Given the description of an element on the screen output the (x, y) to click on. 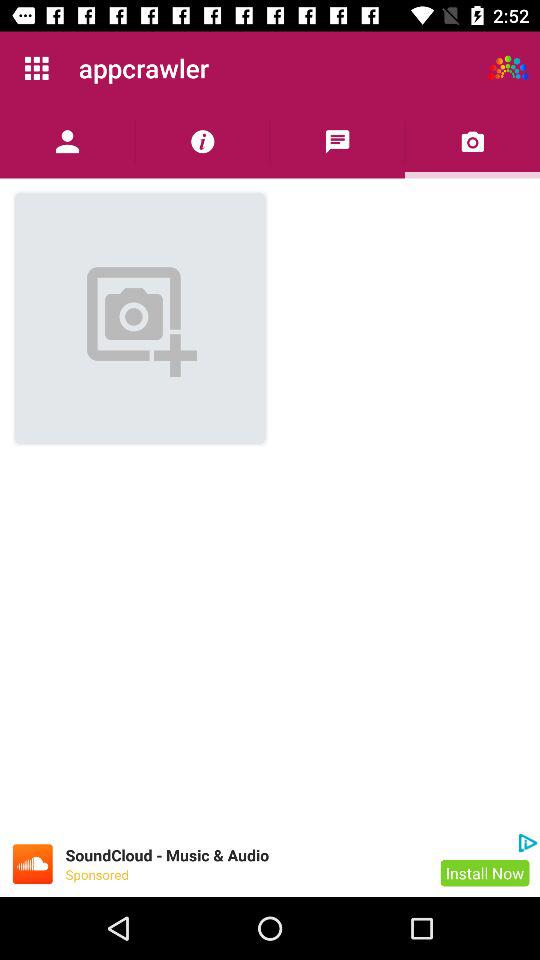
select camera (472, 141)
